Given the description of an element on the screen output the (x, y) to click on. 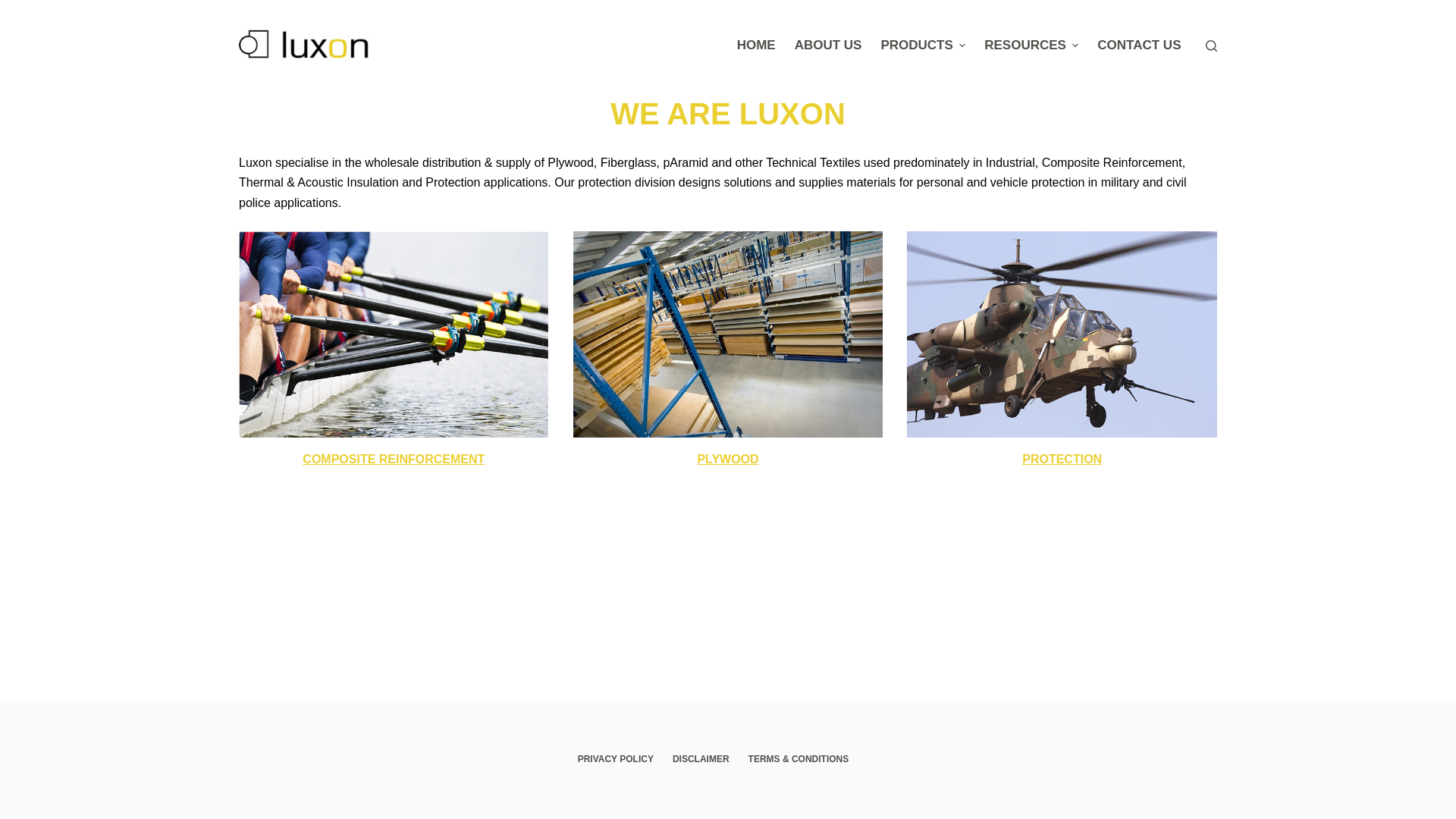
HOME Element type: text (755, 45)
ABOUT US Element type: text (827, 45)
PRIVACY POLICY Element type: text (614, 759)
PROTECTION Element type: text (1061, 458)
PLYWOOD Element type: text (727, 458)
COMPOSITE REINFORCEMENT Element type: text (393, 458)
Helicopter Element type: hover (1061, 332)
PRODUCTS Element type: text (923, 45)
RESOURCES Element type: text (1031, 45)
DISCLAIMER Element type: text (700, 759)
Rowing2 Element type: hover (393, 332)
Skip to content Element type: text (15, 7)
TERMS & CONDITIONS Element type: text (798, 759)
luxon plywood image Element type: hover (728, 332)
CONTACT US Element type: text (1139, 45)
